Given the description of an element on the screen output the (x, y) to click on. 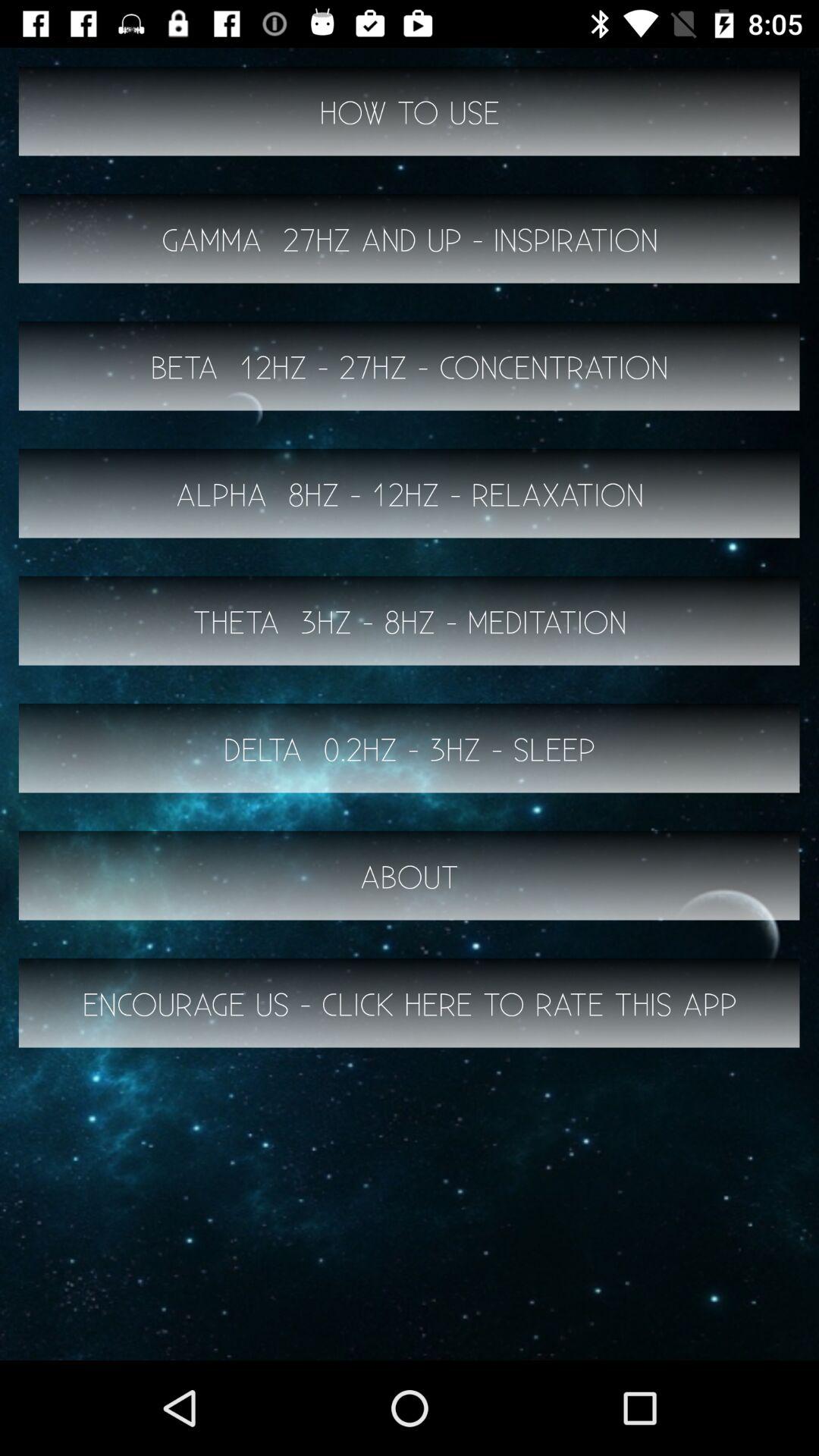
choose delta 0 2hz button (409, 748)
